Given the description of an element on the screen output the (x, y) to click on. 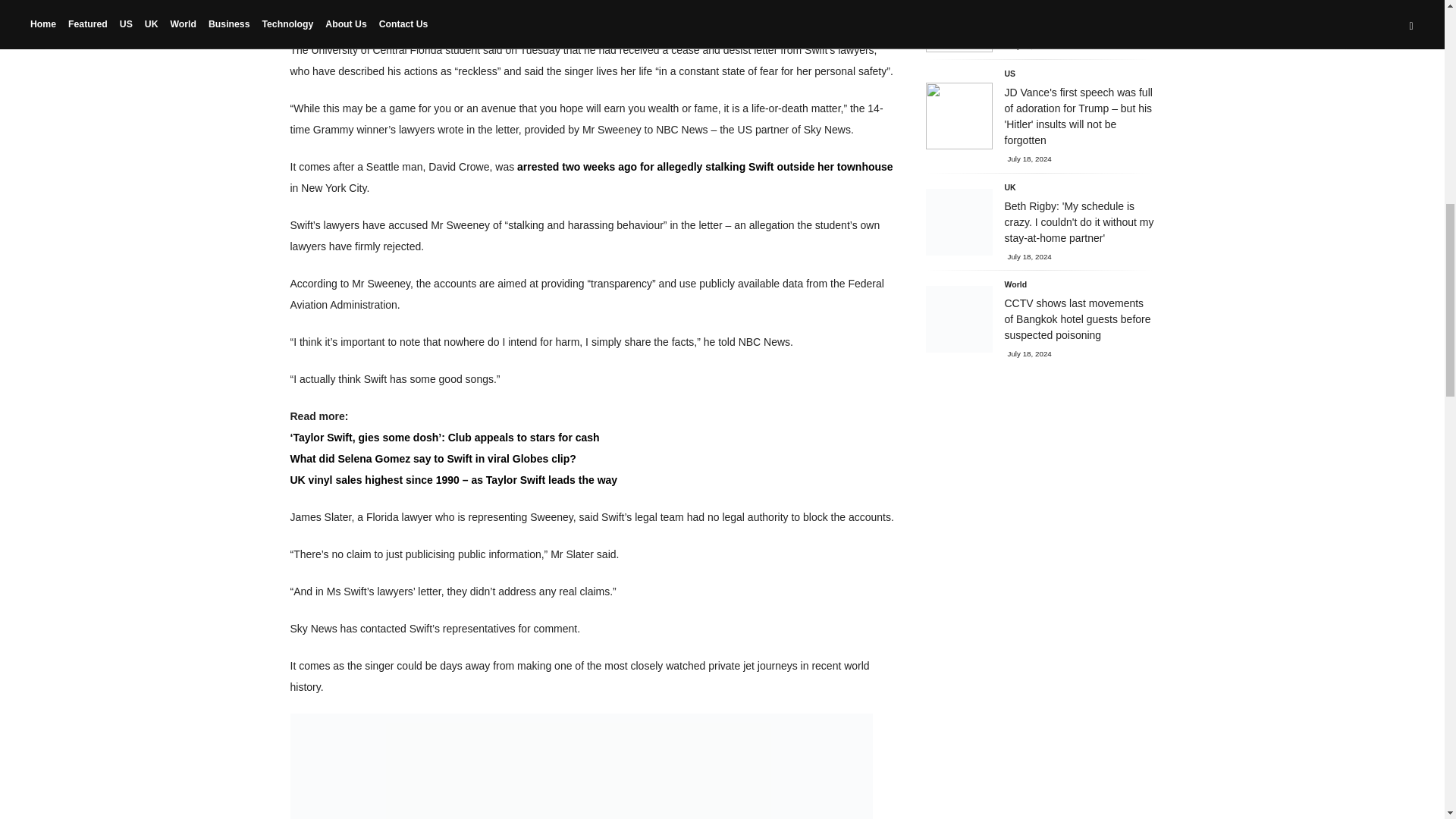
What did Selena Gomez say to Swift in viral Globes clip? (432, 458)
